Given the description of an element on the screen output the (x, y) to click on. 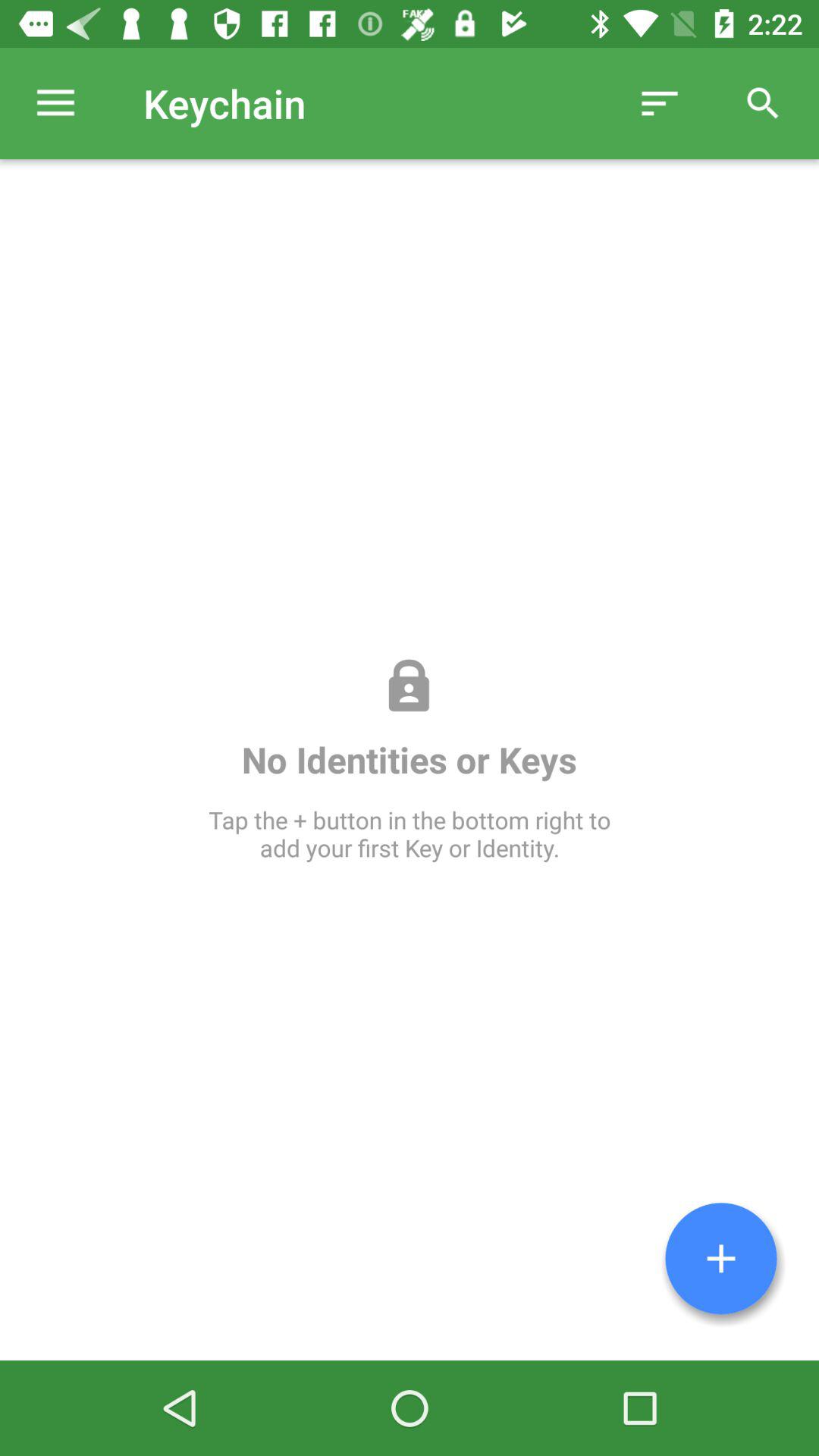
add first item (721, 1258)
